Given the description of an element on the screen output the (x, y) to click on. 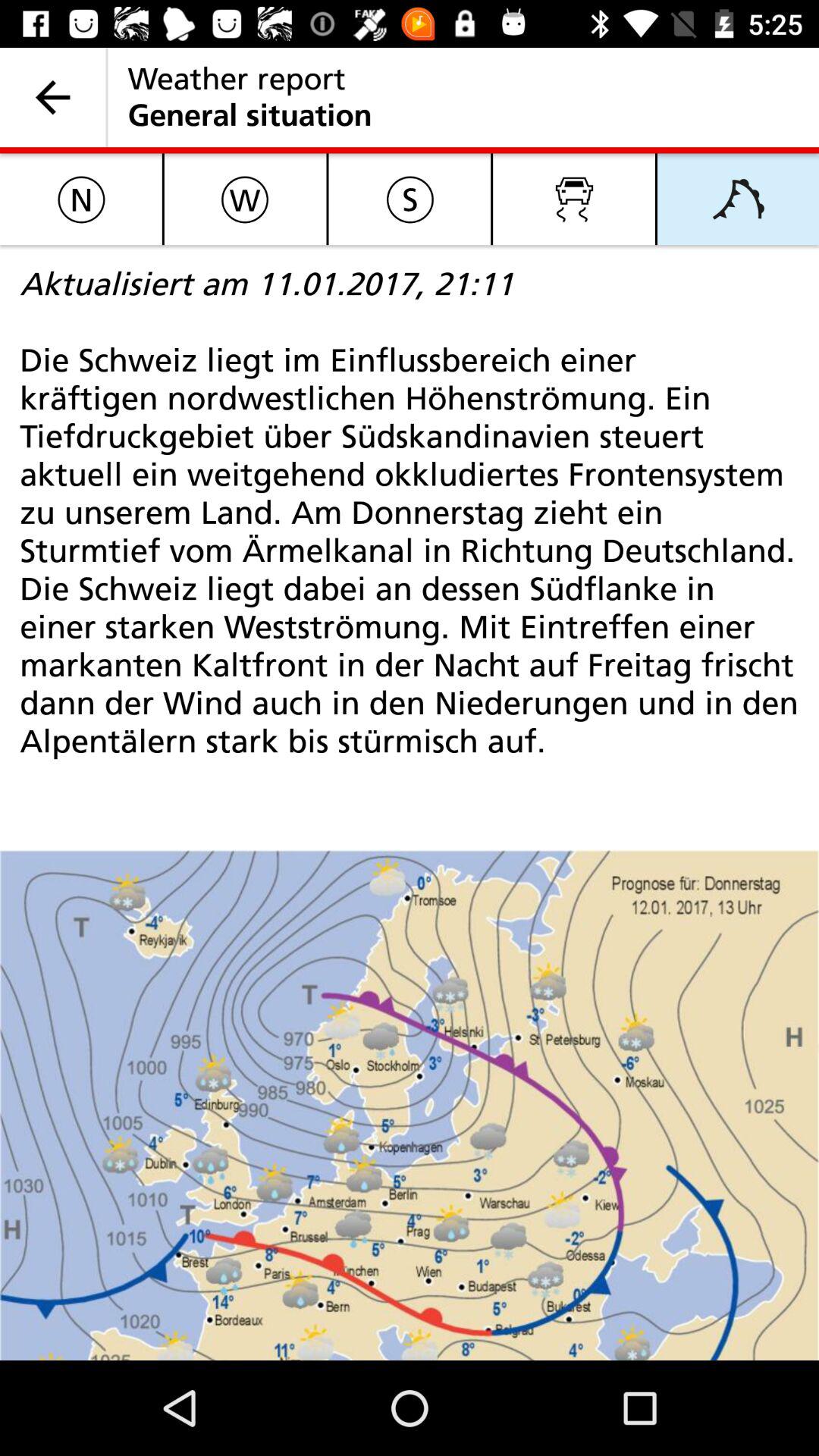
open the item above the aktualisiert am 11 item (81, 199)
